Given the description of an element on the screen output the (x, y) to click on. 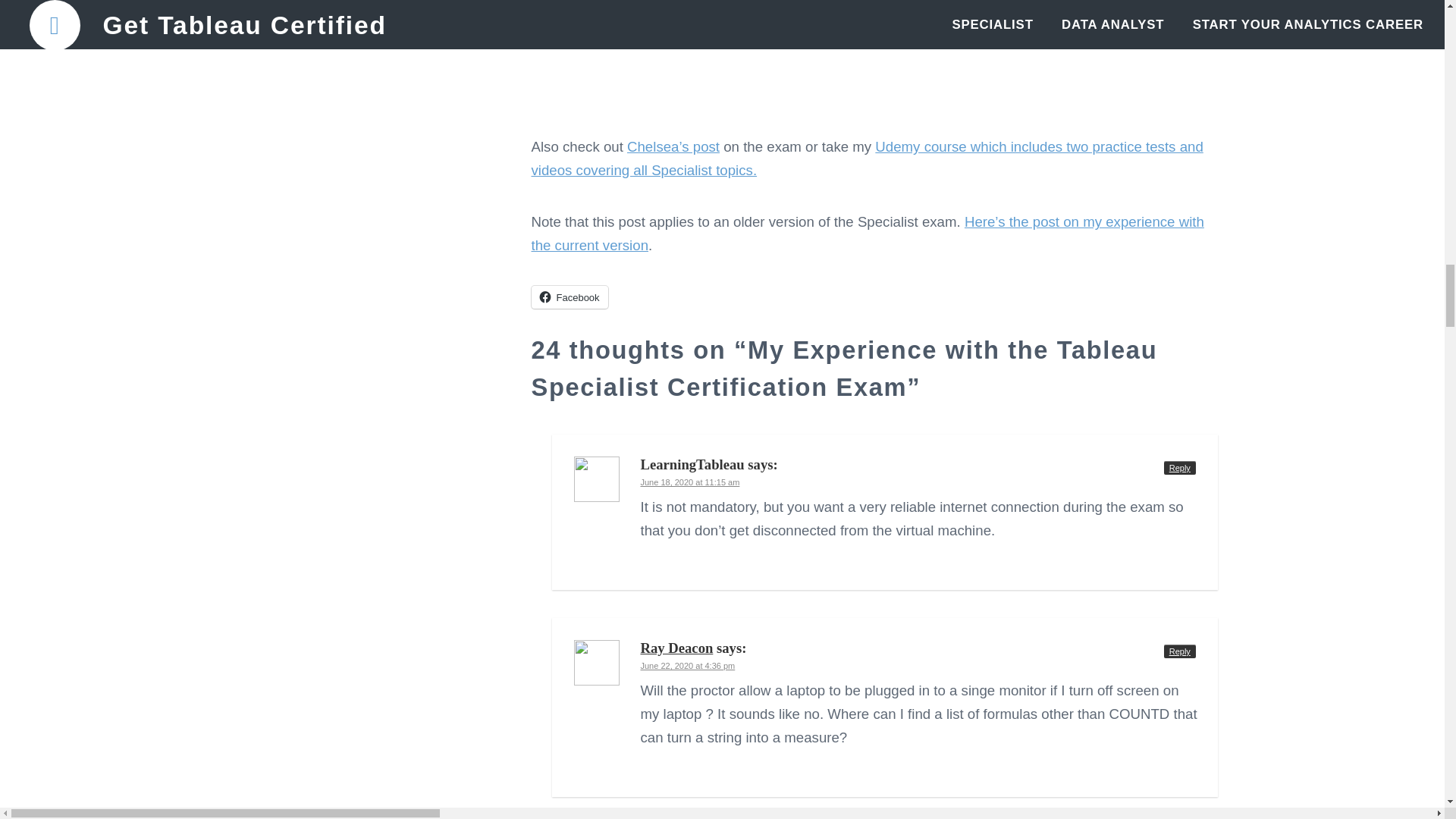
Reply (1179, 651)
Ray Deacon (676, 647)
June 22, 2020 at 4:36 pm (687, 665)
Reply (1179, 468)
Facebook (569, 296)
Click to share on Facebook (569, 296)
June 18, 2020 at 11:15 am (689, 481)
